Given the description of an element on the screen output the (x, y) to click on. 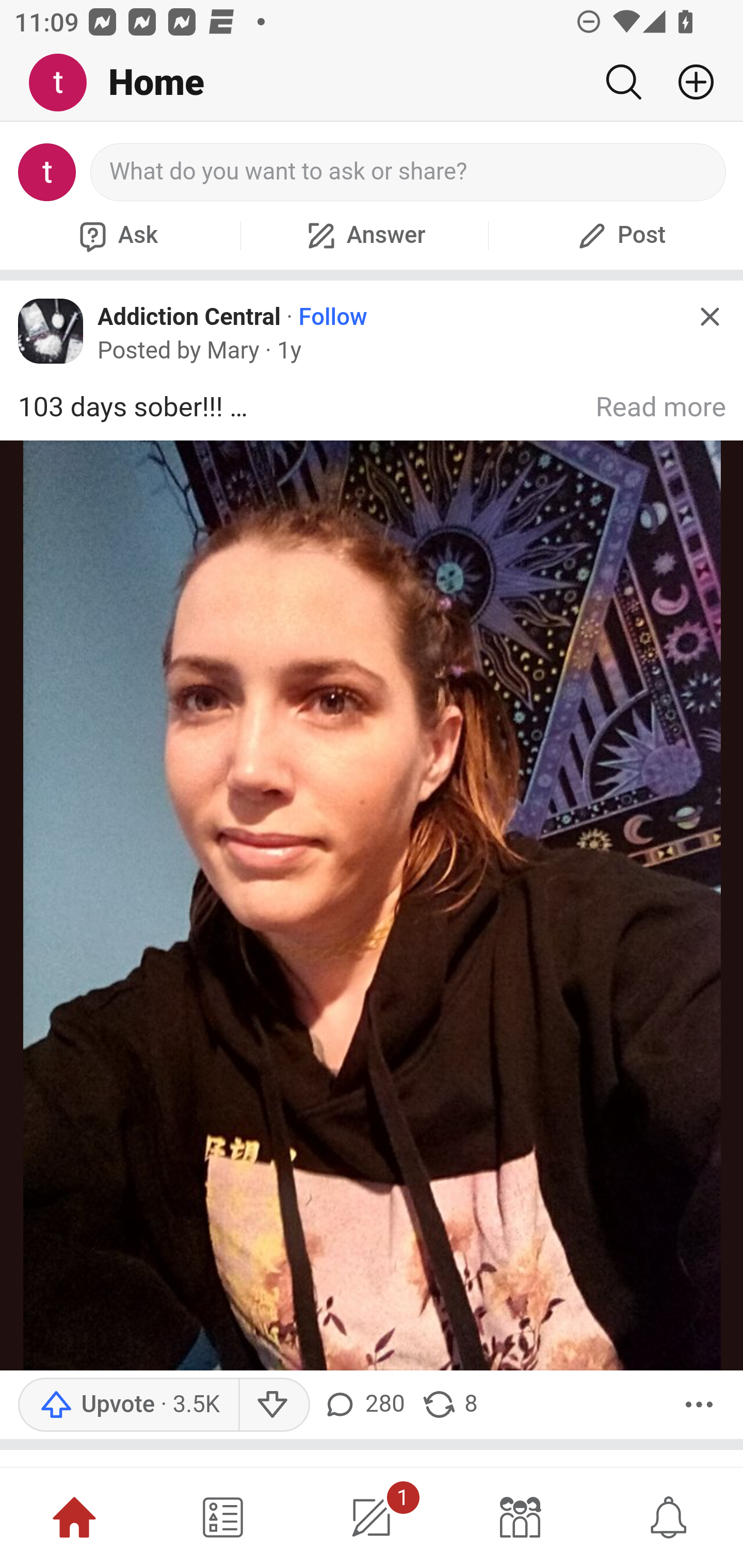
Me (64, 83)
Search (623, 82)
Add (688, 82)
What do you want to ask or share? (408, 172)
Ask (116, 234)
Answer (364, 234)
Post (618, 234)
Hide (709, 316)
Icon for Addiction Central (50, 330)
Addiction Central (189, 315)
Follow (332, 316)
Upvote (127, 1403)
Downvote (273, 1403)
280 comments (365, 1403)
8 shares (449, 1403)
More (699, 1403)
1 (371, 1517)
